Given the description of an element on the screen output the (x, y) to click on. 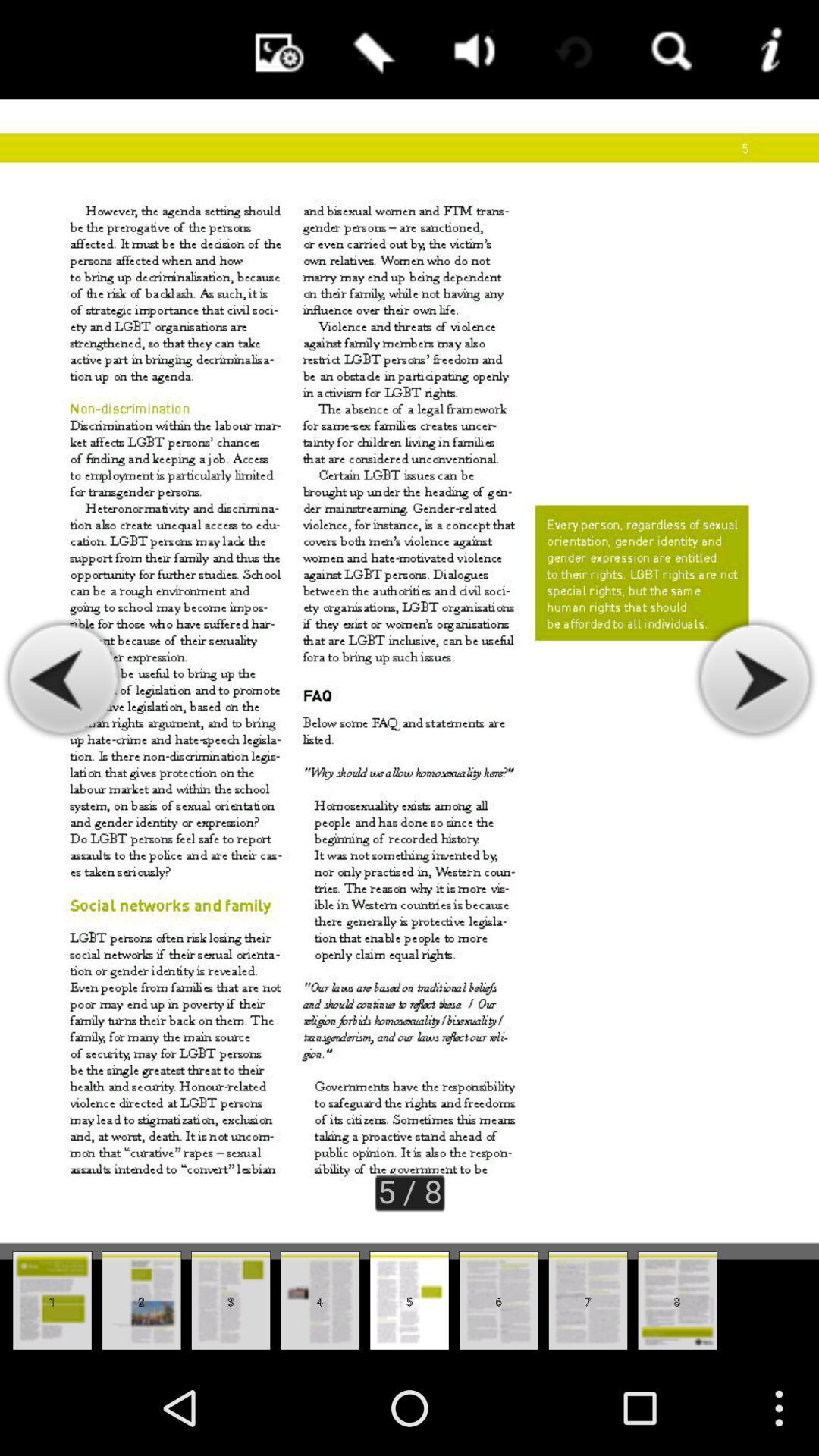
next page (754, 679)
